Given the description of an element on the screen output the (x, y) to click on. 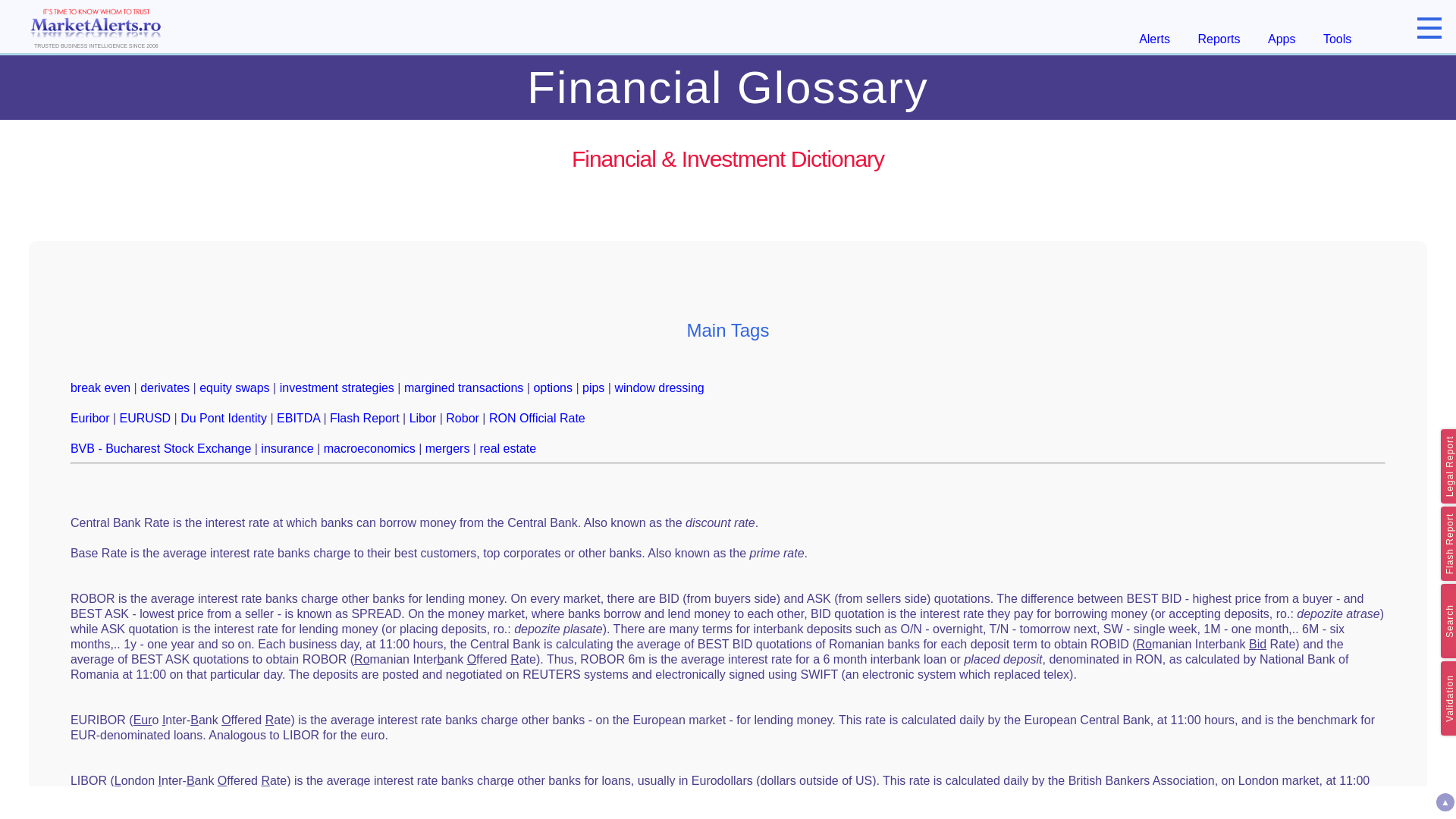
Alerts (1154, 38)
equity swaps (234, 387)
investment strategies (336, 387)
Apps (1281, 38)
insurance (286, 448)
Libor (422, 418)
EBITDA (298, 418)
EURUSD (145, 418)
margined transactions (463, 387)
real estate (507, 448)
TRUSTED BUSINESS INTELLIGENCE SINCE 2006 (96, 26)
Euribor (89, 418)
BVB - Bucharest Stock Exchange (159, 448)
Robor (462, 418)
Tools (1337, 38)
